Given the description of an element on the screen output the (x, y) to click on. 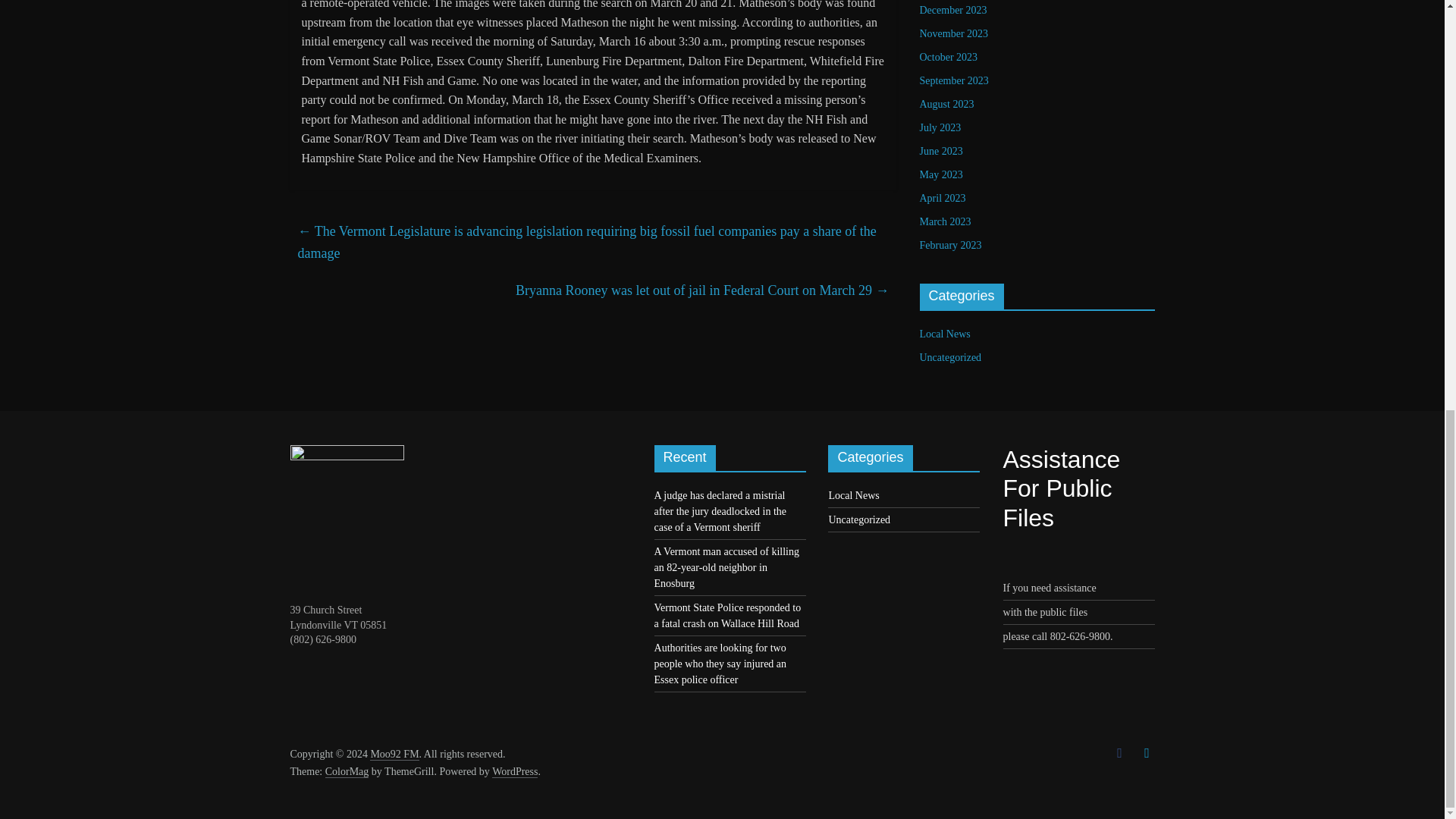
WordPress (514, 771)
ColorMag (346, 771)
Moo92 FM (394, 754)
